Given the description of an element on the screen output the (x, y) to click on. 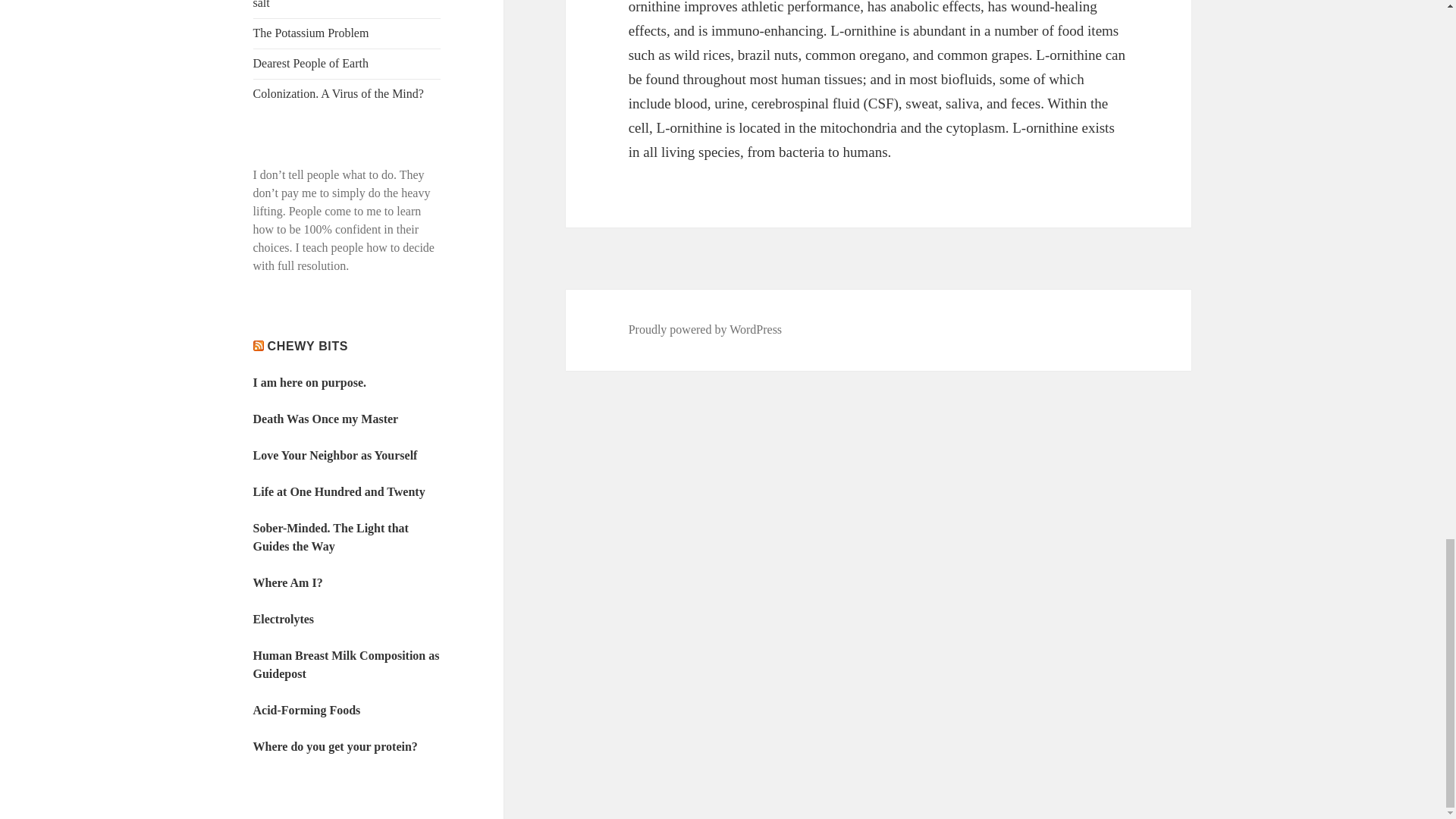
Love Your Neighbor as Yourself (335, 454)
Colonization. A Virus of the Mind? (338, 92)
Where Am I? (288, 582)
I am here on purpose. (309, 382)
Life at One Hundred and Twenty (339, 491)
Death Was Once my Master (325, 418)
Dearest People of Earth (310, 62)
CHEWY BITS (308, 345)
Electrolytes (283, 618)
Human Breast Milk Composition as Guidepost (346, 664)
The Potassium Problem (311, 32)
Acid-Forming Foods (307, 709)
Sober-Minded. The Light that Guides the Way (331, 536)
